Given the description of an element on the screen output the (x, y) to click on. 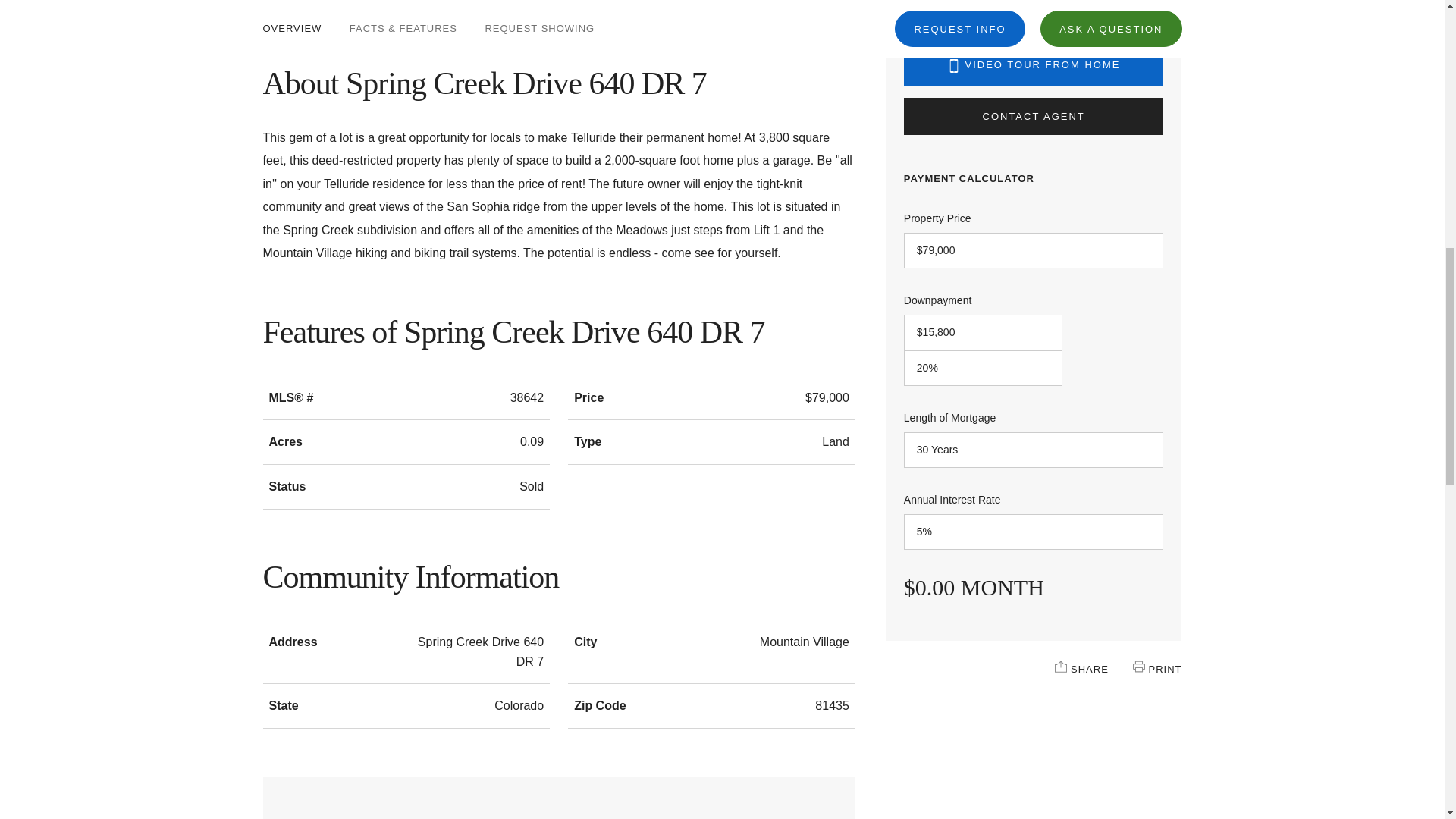
30 Years (1033, 449)
REQUEST INFO (960, 2)
SHARE (1060, 666)
REQUEST SHOWING (539, 7)
PRINT (1138, 666)
MOBILE ICON (953, 65)
ASK A QUESTION (1110, 2)
OVERVIEW (291, 7)
